Given the description of an element on the screen output the (x, y) to click on. 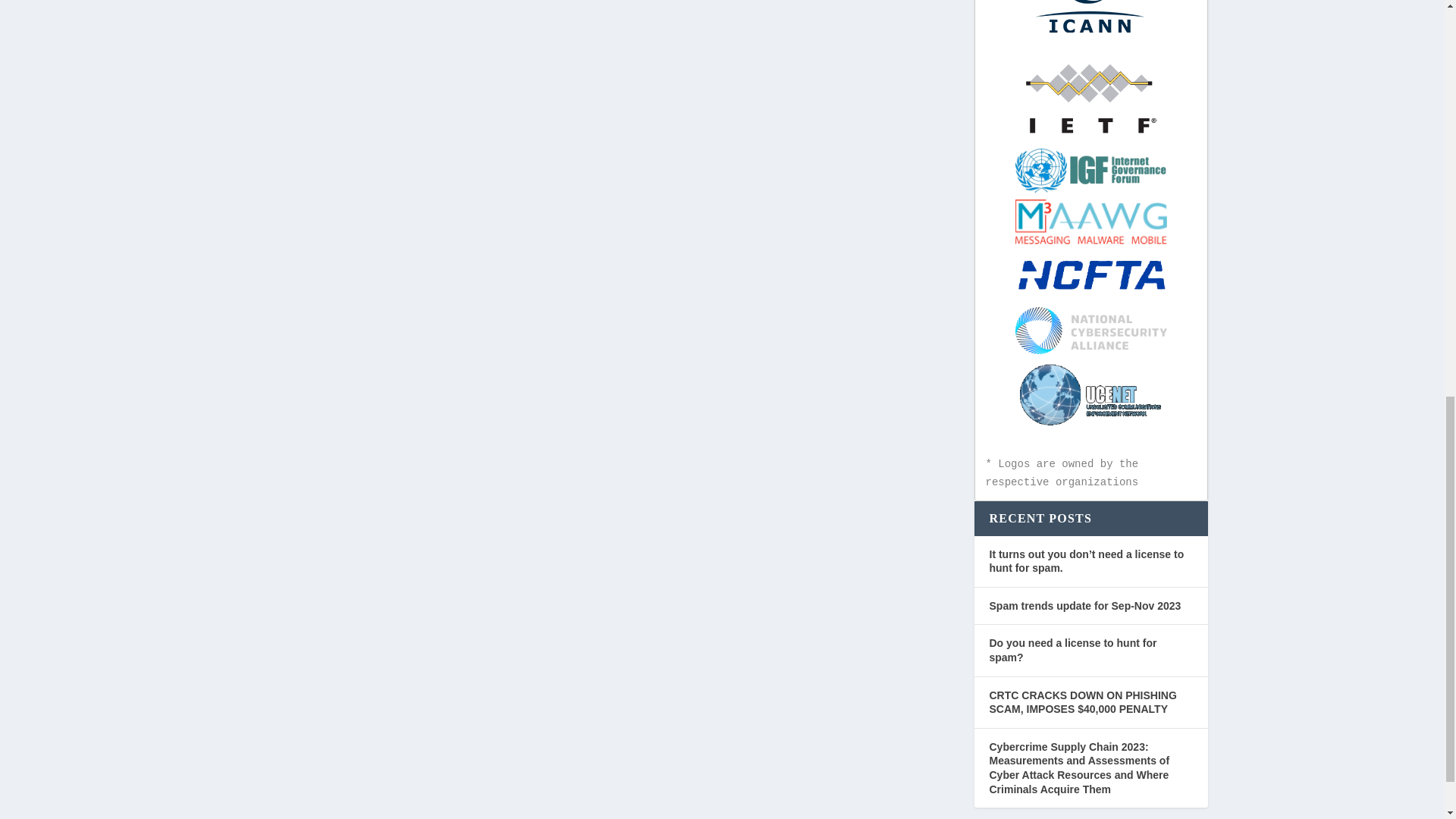
Spam trends update for Sep-Nov 2023 (1084, 605)
Do you need a license to hunt for spam? (1072, 650)
